Given the description of an element on the screen output the (x, y) to click on. 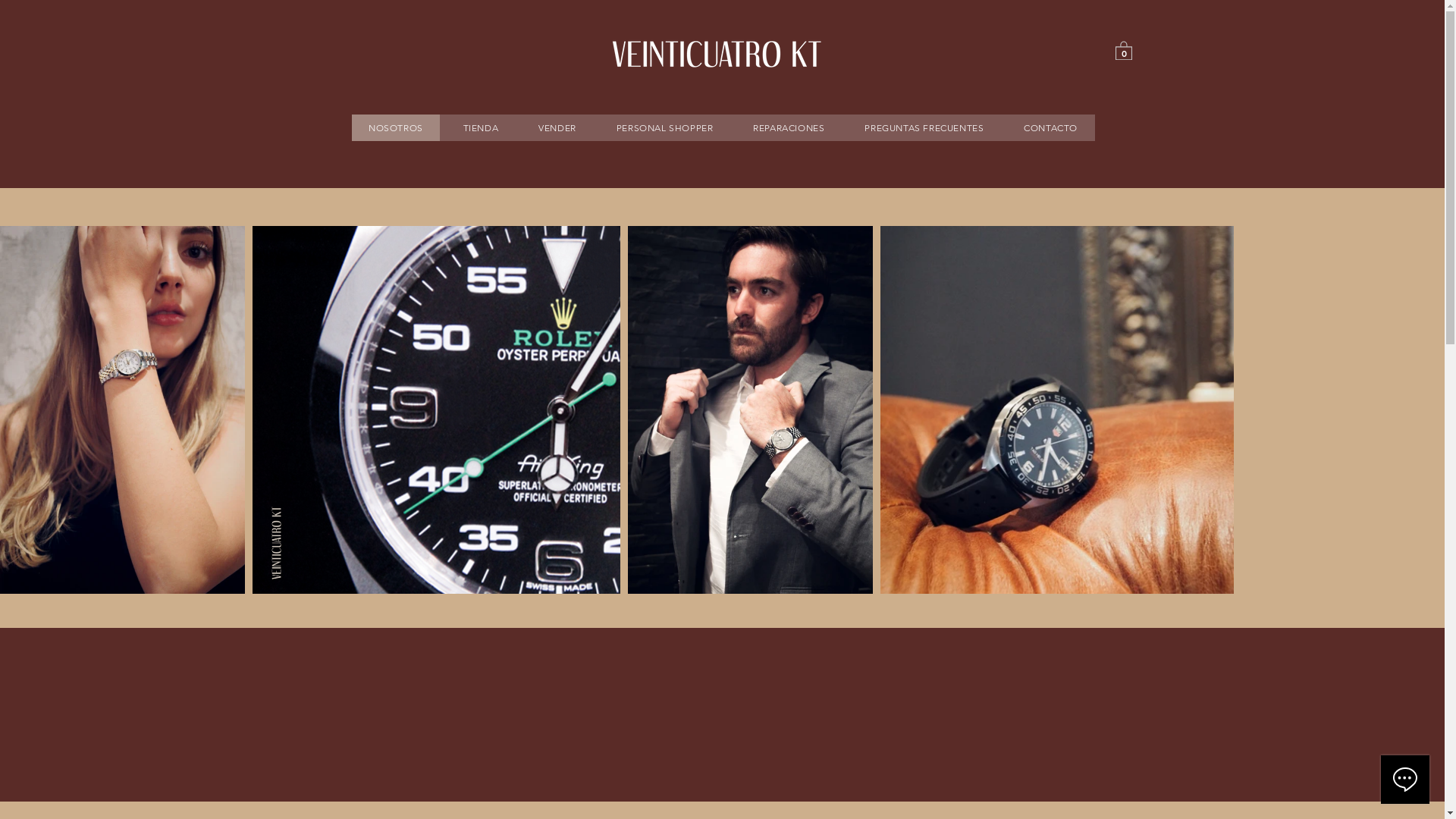
NOSOTROS Element type: text (395, 127)
CONTACTO Element type: text (1051, 127)
PREGUNTAS FRECUENTES Element type: text (924, 127)
REPARACIONES Element type: text (788, 127)
TIENDA Element type: text (480, 127)
0 Element type: text (1122, 49)
VENDER Element type: text (557, 127)
PERSONAL SHOPPER Element type: text (664, 127)
